Given the description of an element on the screen output the (x, y) to click on. 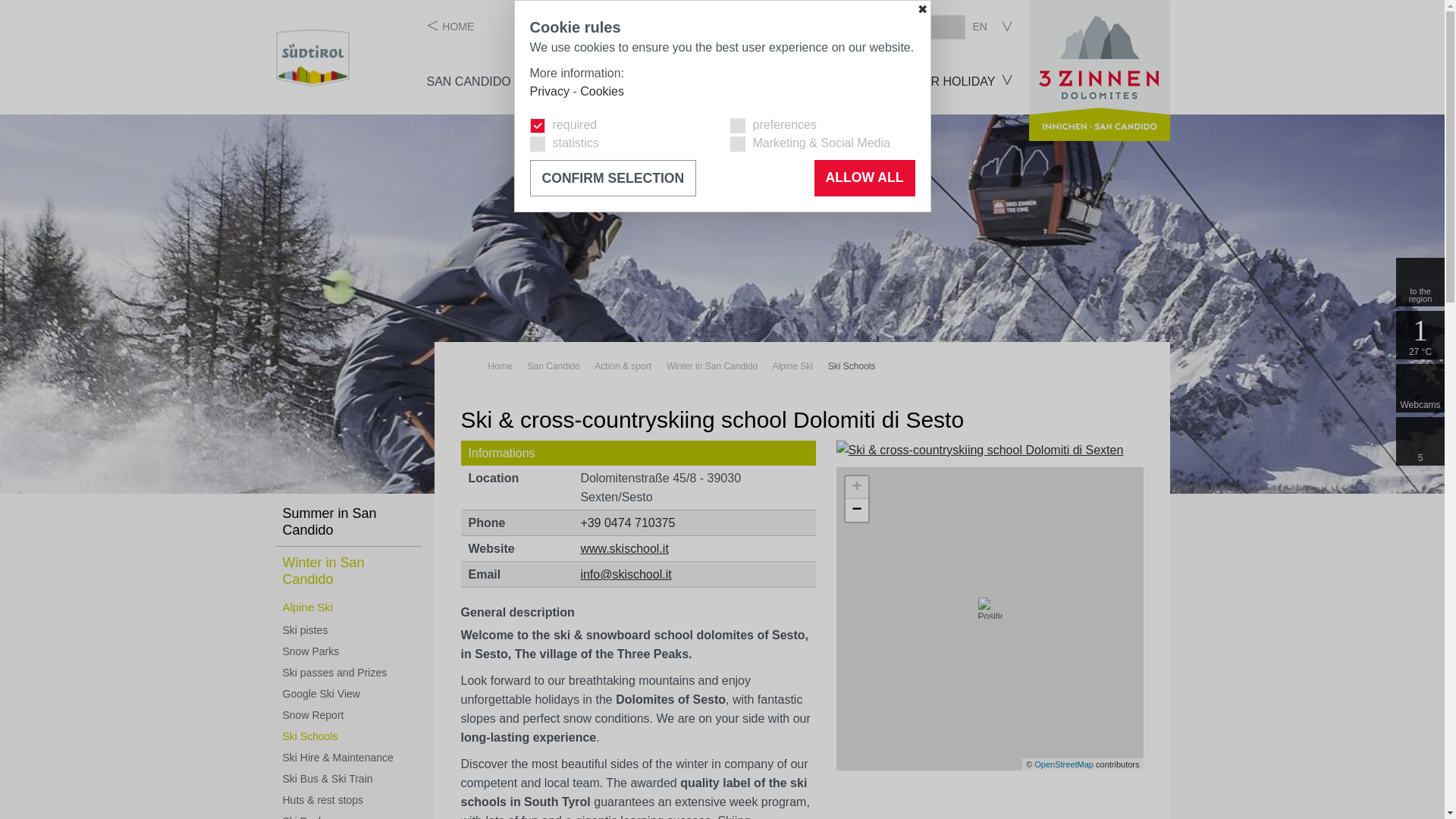
Zoom out (856, 509)
HOME (450, 26)
SAN CANDIDO (468, 81)
Zoom in (856, 486)
Position (990, 608)
